Given the description of an element on the screen output the (x, y) to click on. 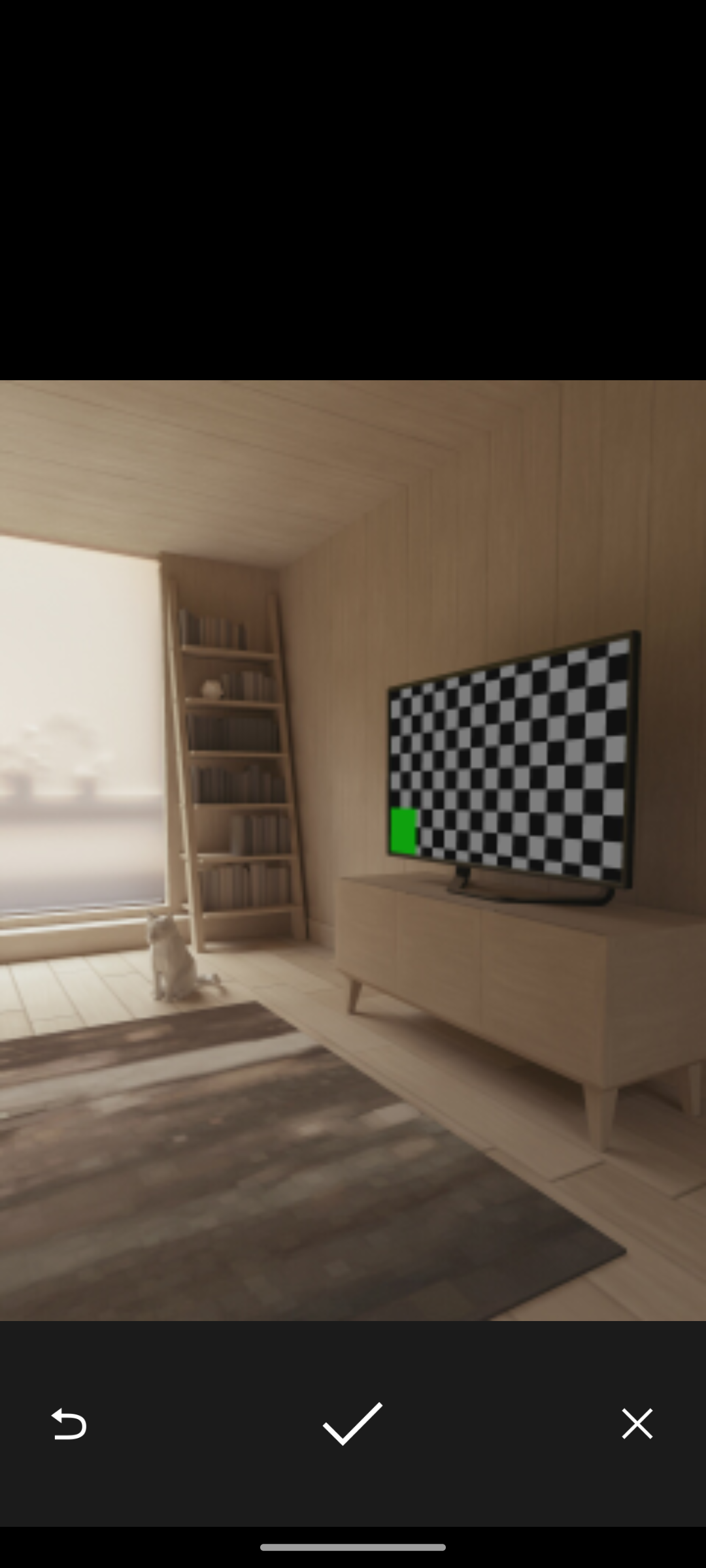
Done (352, 1423)
Retake (68, 1423)
Cancel (637, 1423)
